Given the description of an element on the screen output the (x, y) to click on. 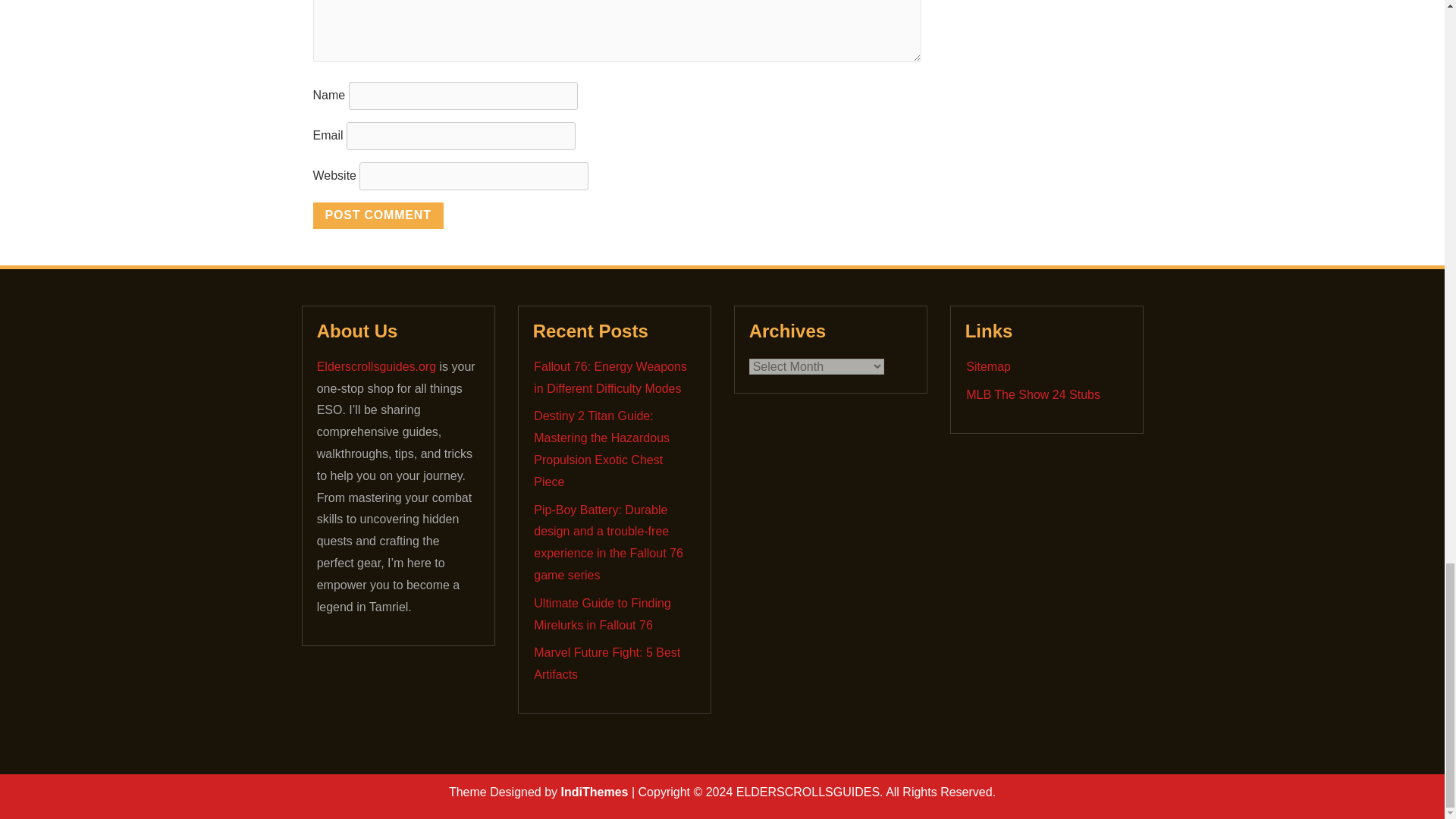
Post Comment (377, 215)
